Given the description of an element on the screen output the (x, y) to click on. 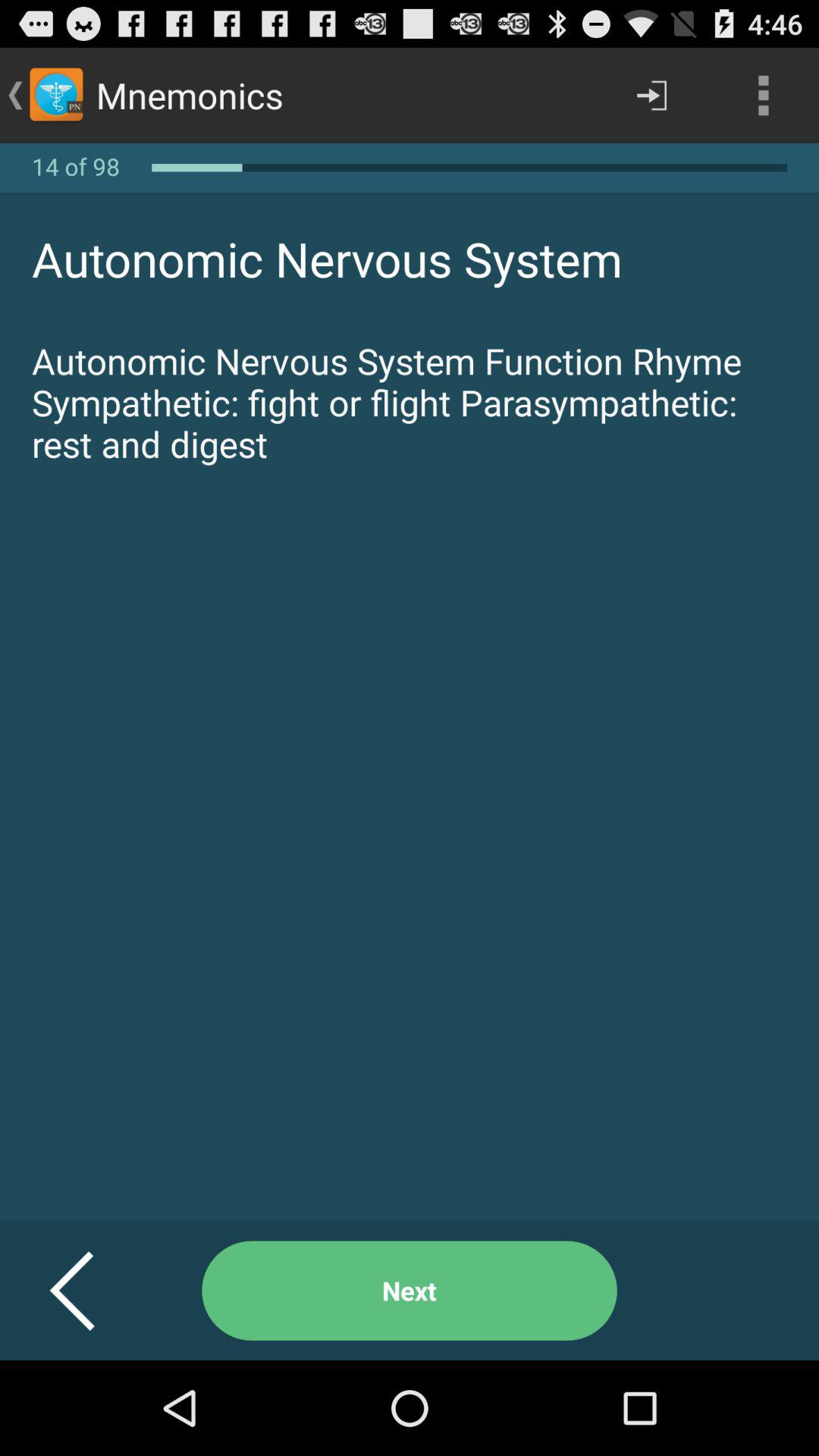
tap the app next to mnemonics app (651, 95)
